Given the description of an element on the screen output the (x, y) to click on. 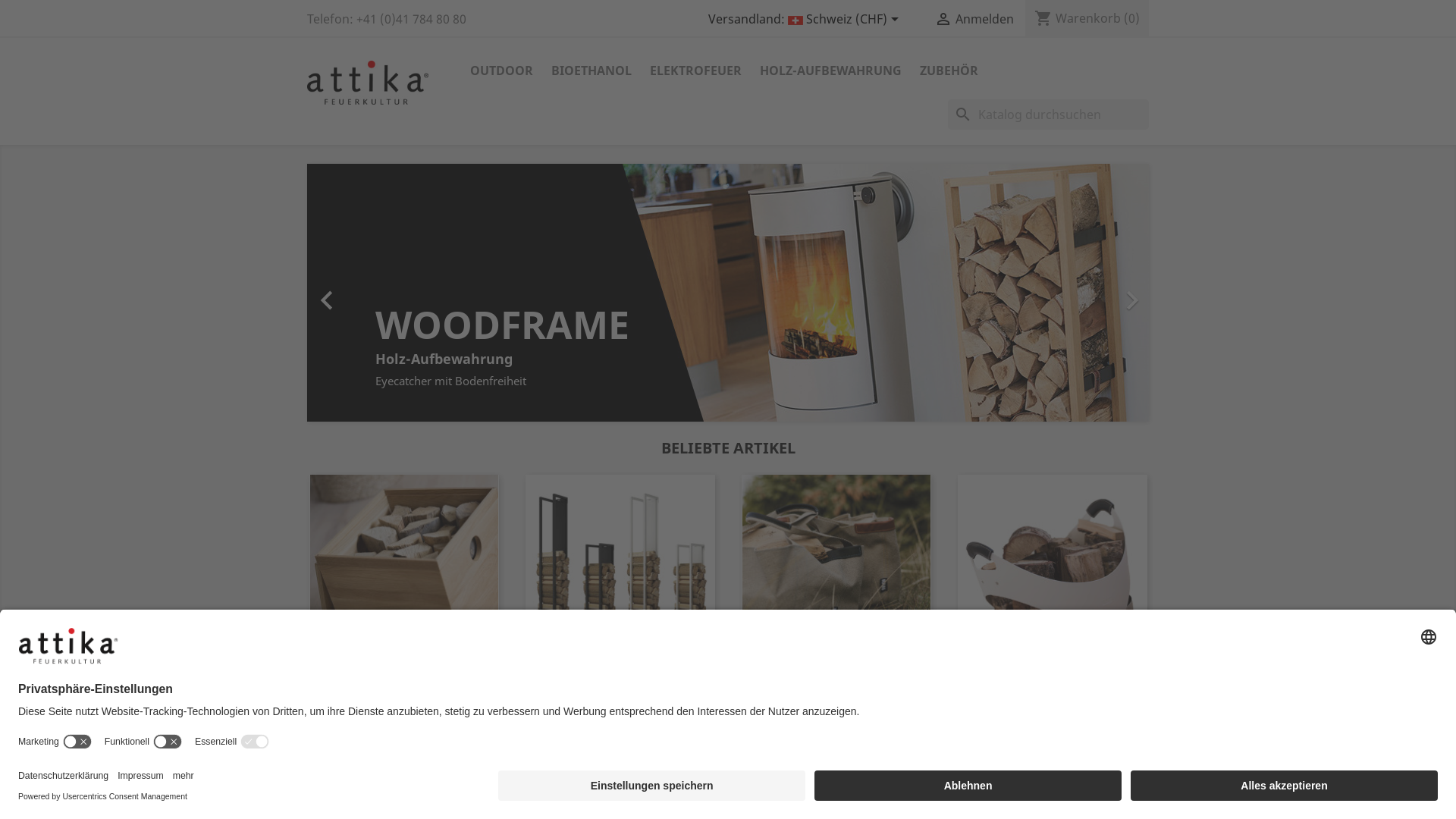
WOODWALL
Holz-Aufbewahrung
Eleganter Wandhalter aus Stahl Element type: text (498, 290)
WOODBOX Element type: text (403, 678)
HOLZ-AUFBEWAHRUNG Element type: text (830, 71)
OUTDOOR Element type: text (501, 71)
BIOETHANOL Element type: text (591, 71)
WOODY Element type: text (835, 678)
CARRY Element type: text (1052, 678)
WOODWALL Element type: text (619, 678)
ELEKTROFEUER Element type: text (695, 71)
